Given the description of an element on the screen output the (x, y) to click on. 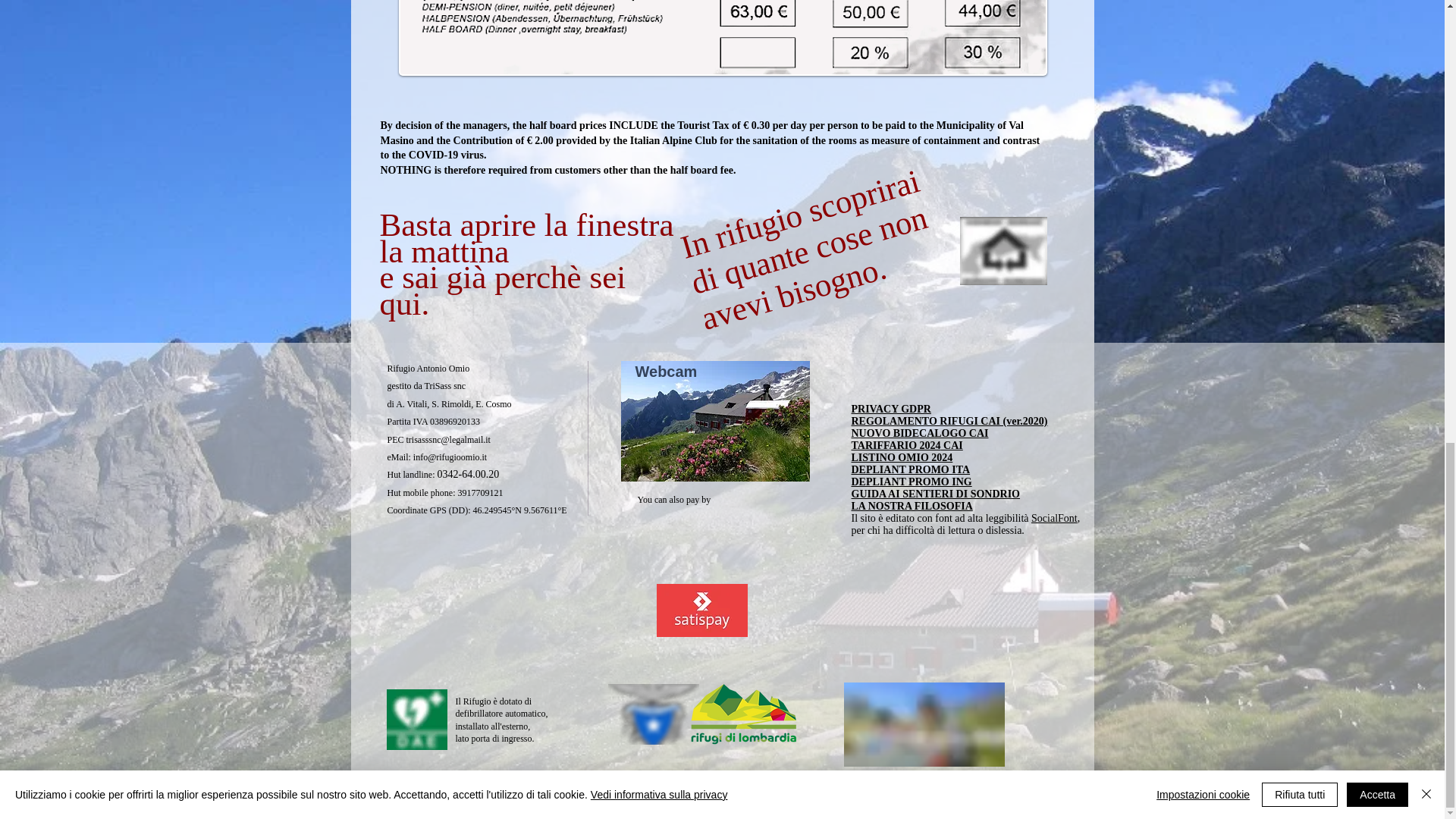
DEPLIANT PROMO ING (910, 481)
LA NOSTRA FILOSOFIA (911, 505)
GUIDA AI SENTIERI DI SONDRIO (935, 493)
NUOVO BIDECALOGO CAI (919, 432)
LISTINO OMIO 2024 (901, 457)
SocialFont (1053, 518)
PRIVACY GDPR (890, 408)
DEPLIANT PROMO ITA (909, 469)
TARIFFARIO 2024 CAI (906, 445)
